Given the description of an element on the screen output the (x, y) to click on. 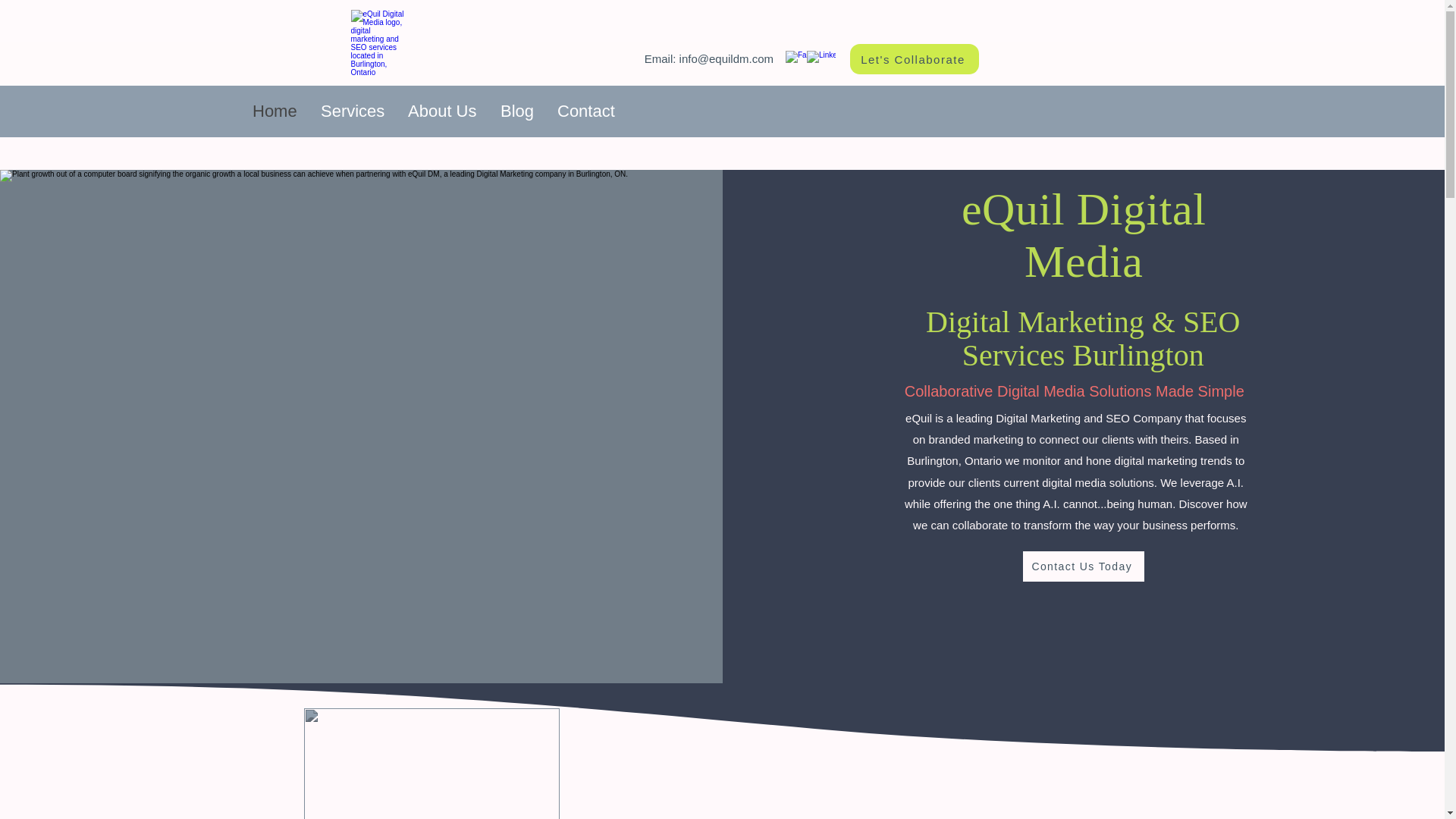
About Us (441, 111)
Contact Us Today (1083, 566)
Contact (586, 111)
Home (274, 111)
Services (352, 111)
Blog (516, 111)
Let's Collaborate (914, 59)
